Given the description of an element on the screen output the (x, y) to click on. 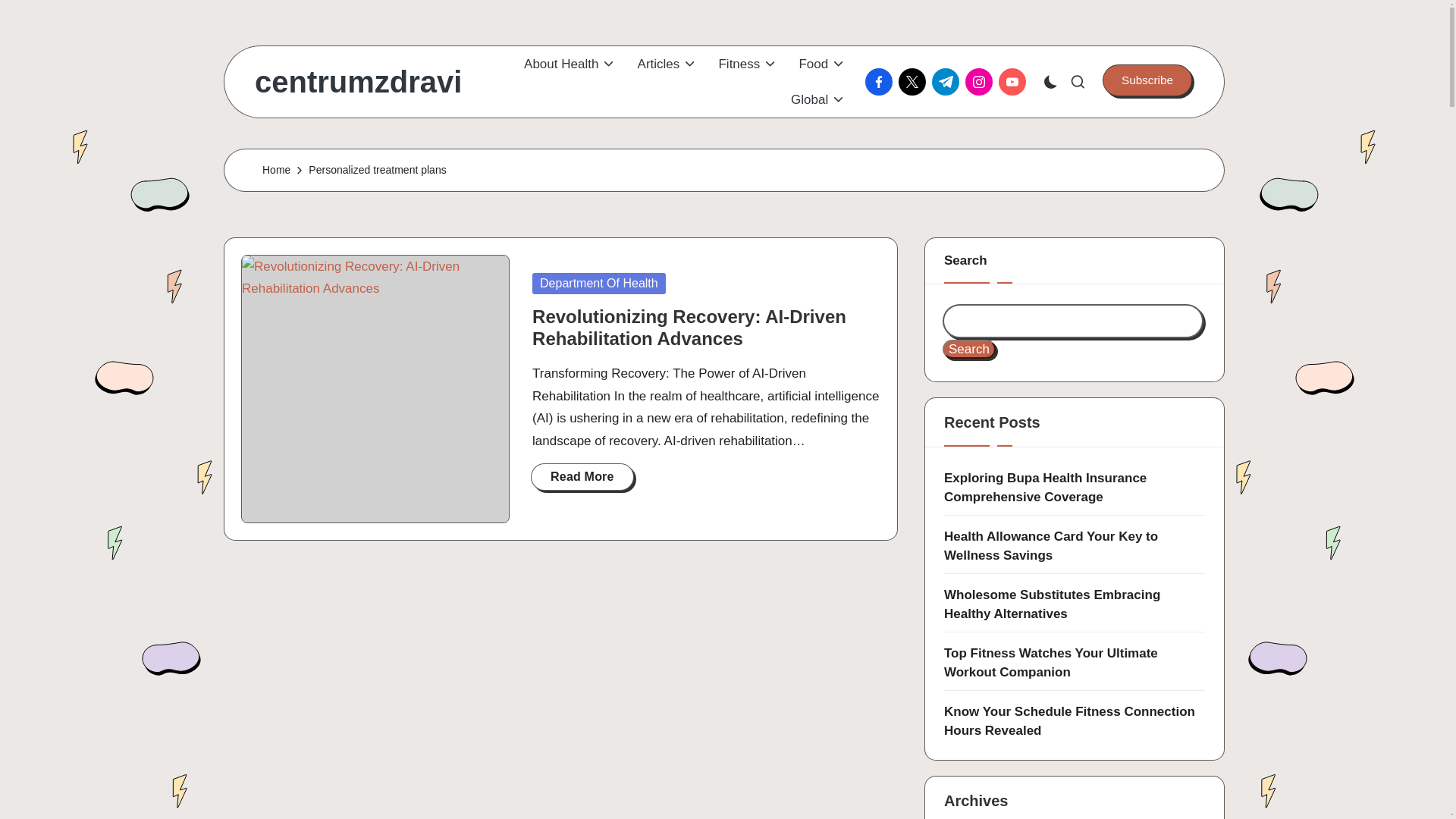
Revolutionizing Recovery: AI-Driven Rehabilitation Advances (688, 327)
Revolutionizing Recovery: AI-Driven Rehabilitation Advances (374, 387)
About Health (569, 63)
Articles (667, 63)
centrumzdravi (357, 81)
